Given the description of an element on the screen output the (x, y) to click on. 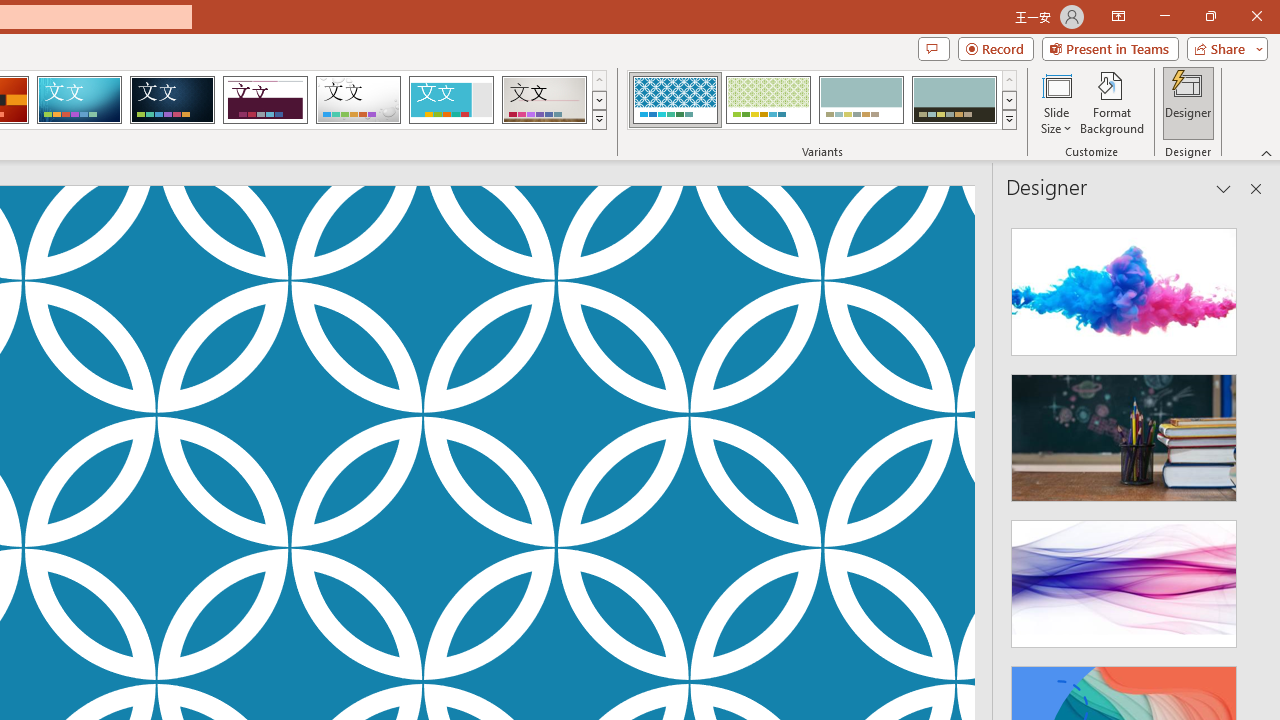
Integral Variant 1 (674, 100)
Integral Variant 3 (861, 100)
Droplet Loading Preview... (358, 100)
Themes (598, 120)
AutomationID: ThemeVariantsGallery (822, 99)
Integral Variant 2 (768, 100)
Slide Size (1056, 102)
Damask Loading Preview... (171, 100)
Variants (1009, 120)
